Given the description of an element on the screen output the (x, y) to click on. 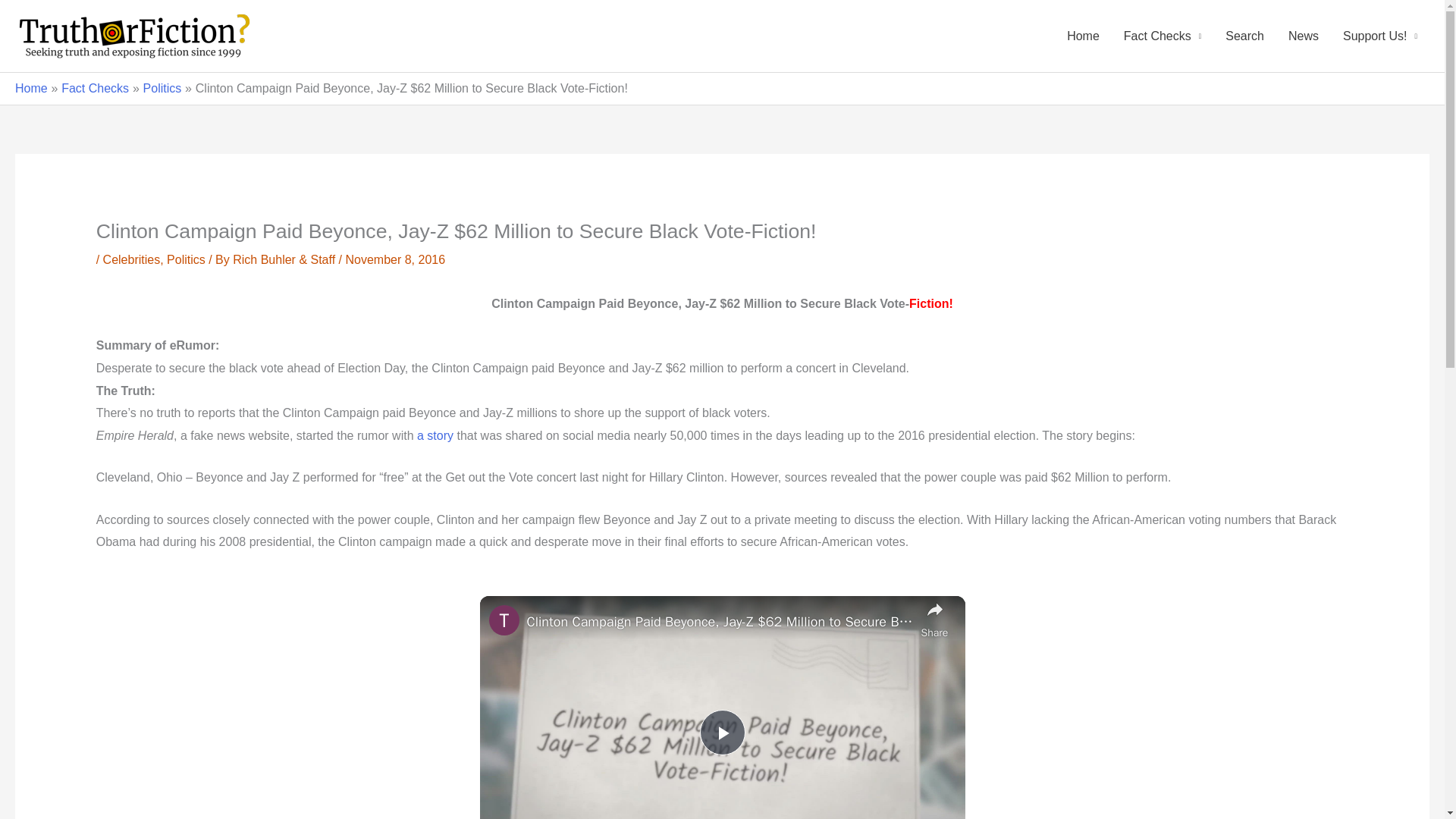
Home (31, 88)
Fact Checks (1162, 36)
a story (434, 435)
Support Us! (1379, 36)
Fact Checks (95, 88)
Politics (162, 88)
Play Video (721, 732)
Politics (186, 259)
Play Video (721, 732)
Celebrities (131, 259)
